Given the description of an element on the screen output the (x, y) to click on. 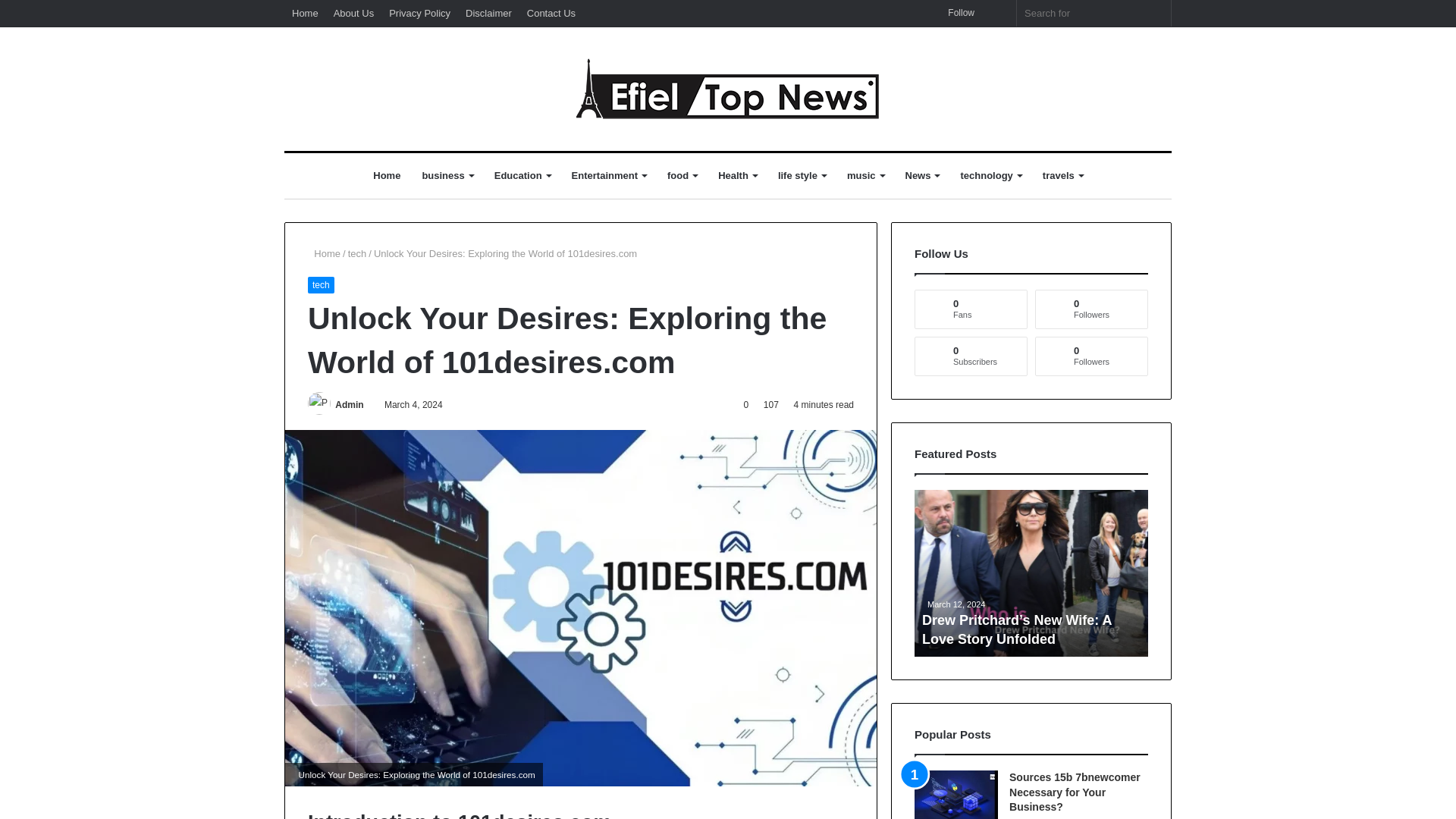
Search for (1093, 13)
travels (1062, 176)
Disclaimer (488, 13)
Education (521, 176)
food (681, 176)
Follow (956, 13)
Log In (997, 6)
Privacy Policy (419, 13)
life style (801, 176)
Contact Us (551, 13)
